Given the description of an element on the screen output the (x, y) to click on. 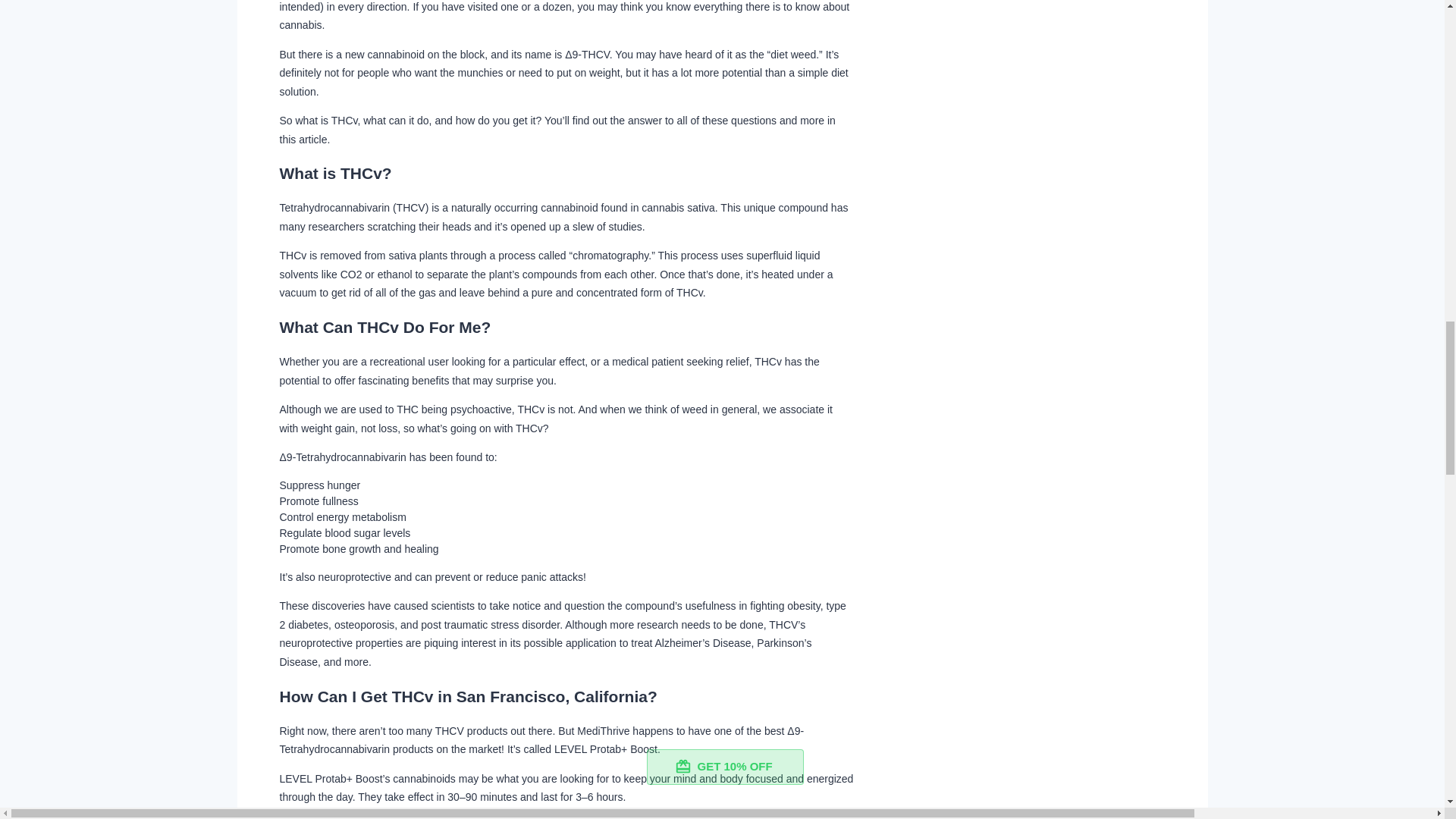
slew of studies. (608, 226)
type 2 diabetes (562, 614)
fighting obesity (784, 605)
post traumatic stress disorder (489, 624)
osteoporosis (364, 624)
